Given the description of an element on the screen output the (x, y) to click on. 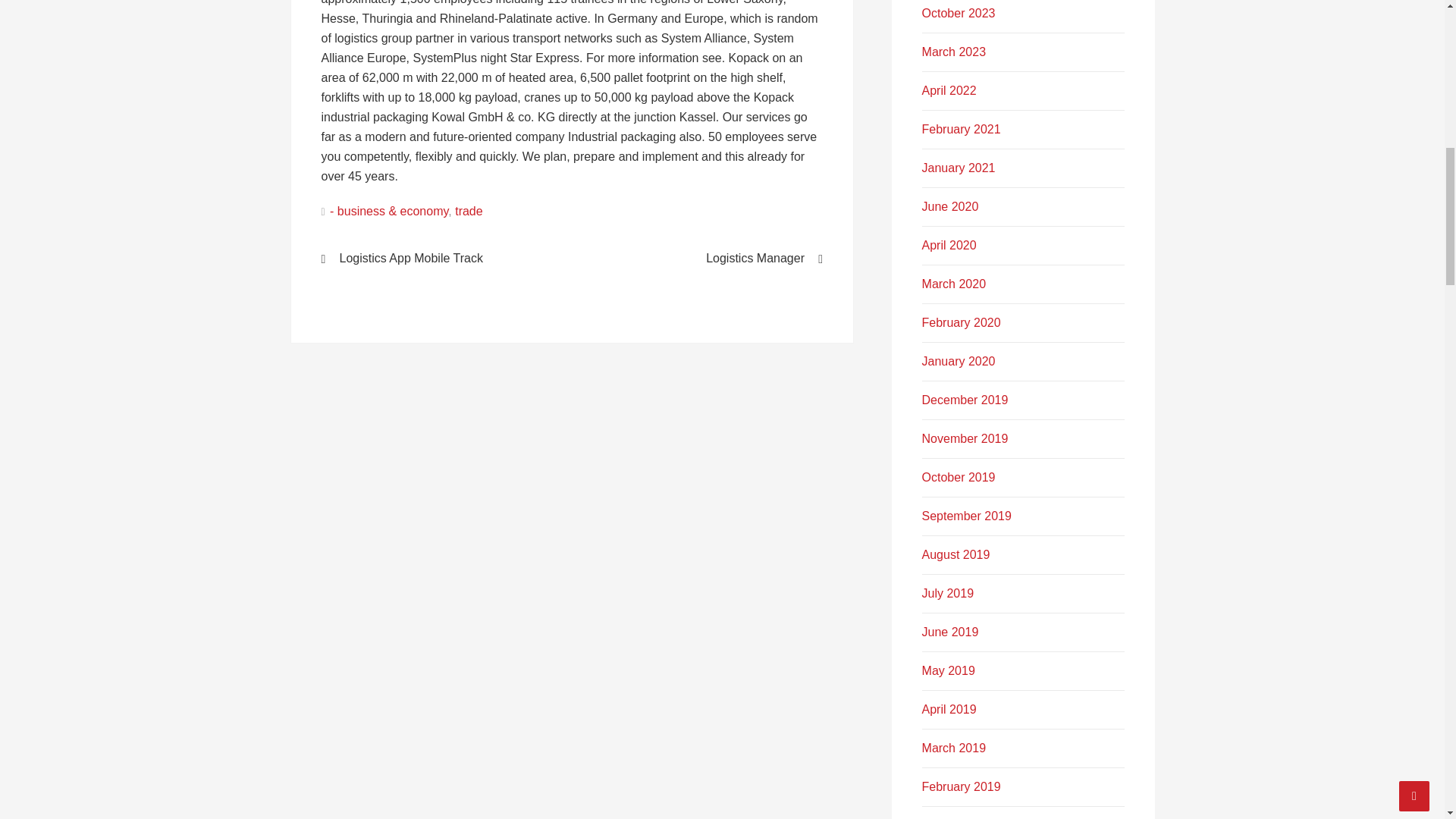
Logistics Manager (707, 258)
November 2019 (965, 438)
June 2020 (949, 205)
October 2023 (958, 12)
April 2022 (948, 90)
February 2021 (961, 128)
trade (467, 210)
October 2019 (958, 477)
August 2019 (955, 554)
December 2019 (965, 399)
